Given the description of an element on the screen output the (x, y) to click on. 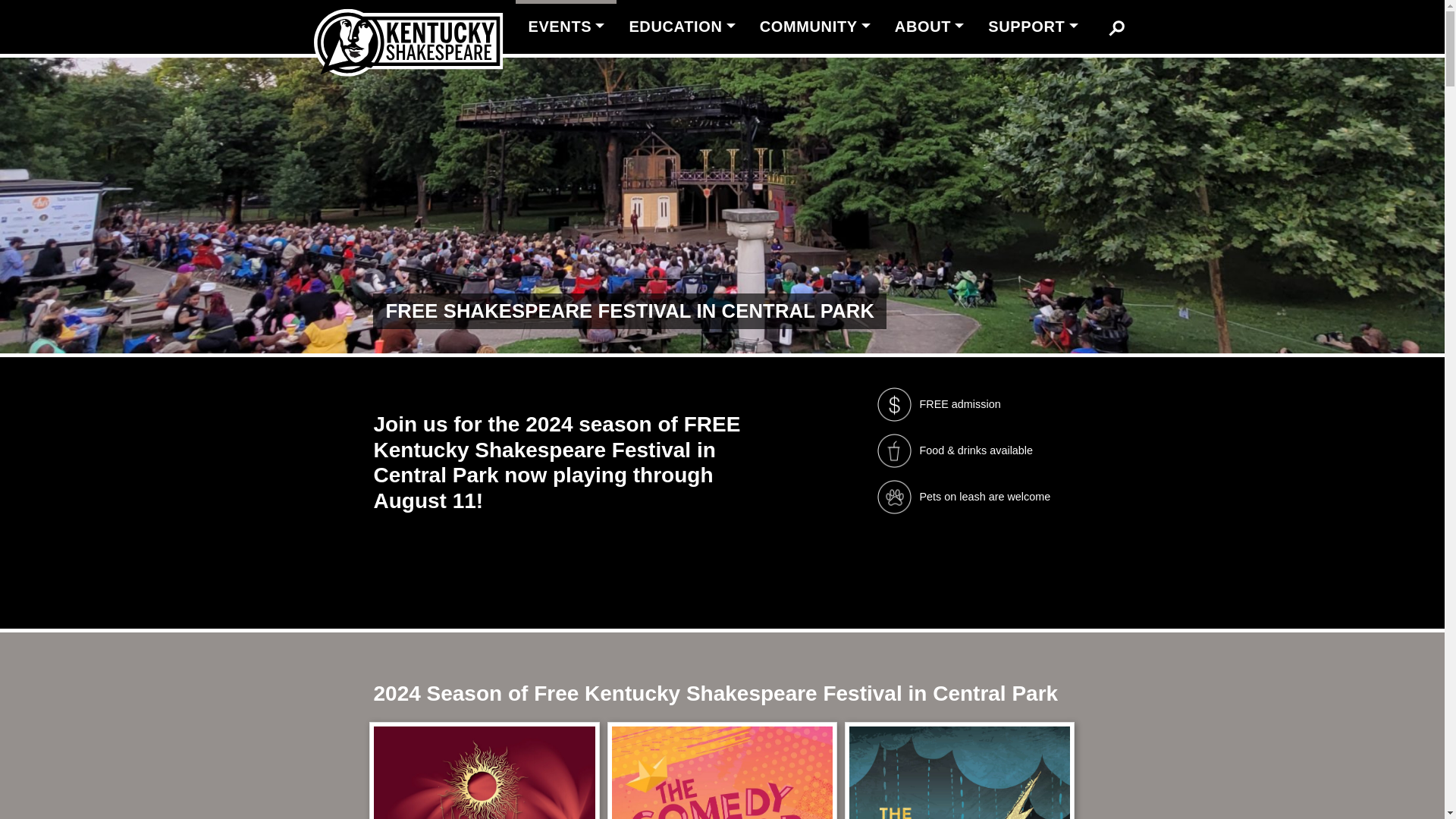
COMMUNITY (815, 27)
SUPPORT (1032, 27)
Education (680, 27)
ABOUT (928, 27)
Events (565, 27)
EVENTS (565, 27)
About (928, 27)
Community (815, 27)
EDUCATION (680, 27)
